Given the description of an element on the screen output the (x, y) to click on. 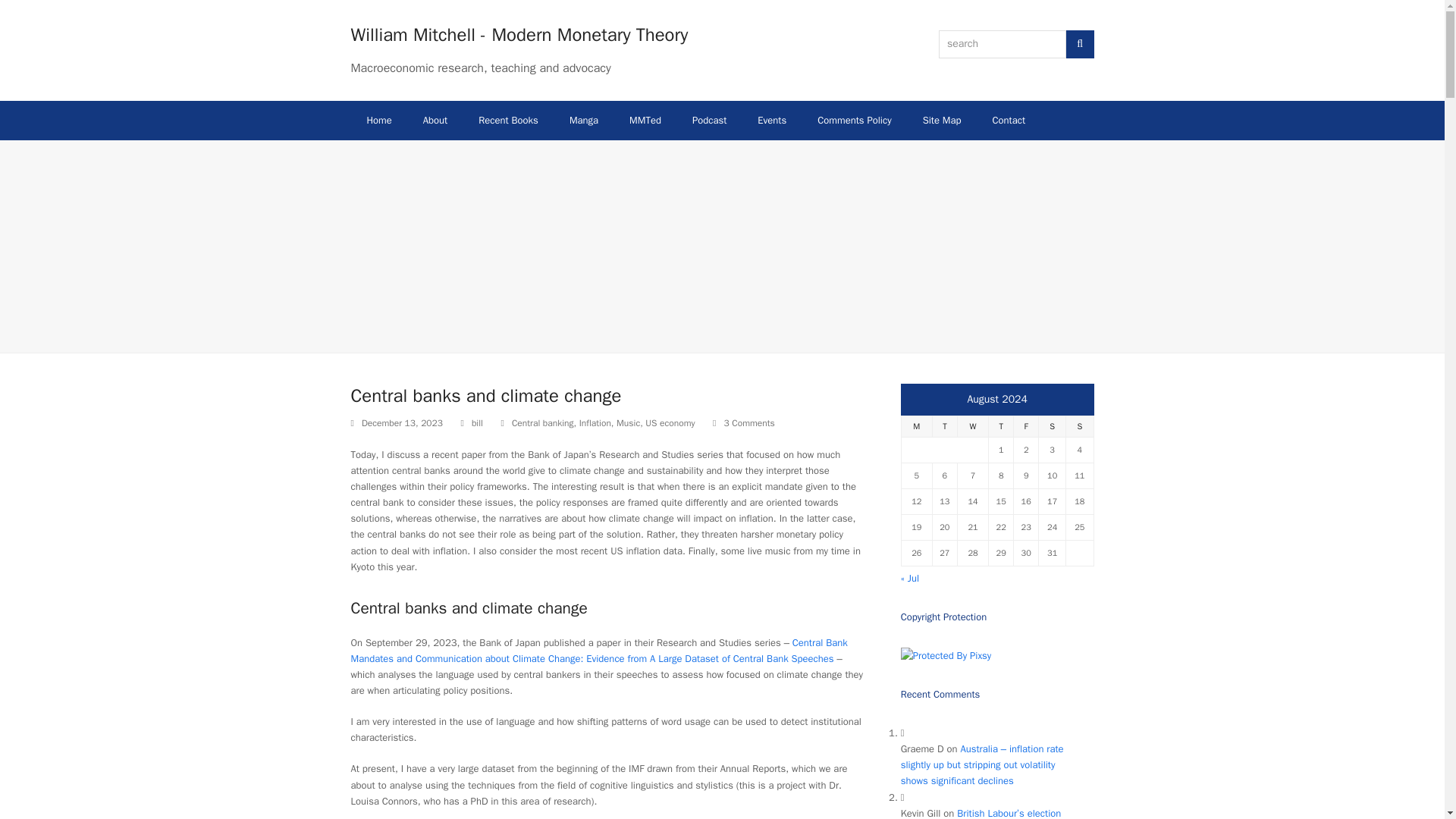
Monday (916, 426)
Tuesday (943, 426)
Manga (583, 120)
Wednesday (972, 426)
Posts by bill (477, 422)
Music (627, 422)
bill (477, 422)
William Mitchell - Modern Monetary Theory (518, 34)
Home (379, 120)
Recent Books (508, 120)
3 Comments (743, 423)
Events (772, 120)
3 Comments (748, 423)
Contact (1008, 120)
